Given the description of an element on the screen output the (x, y) to click on. 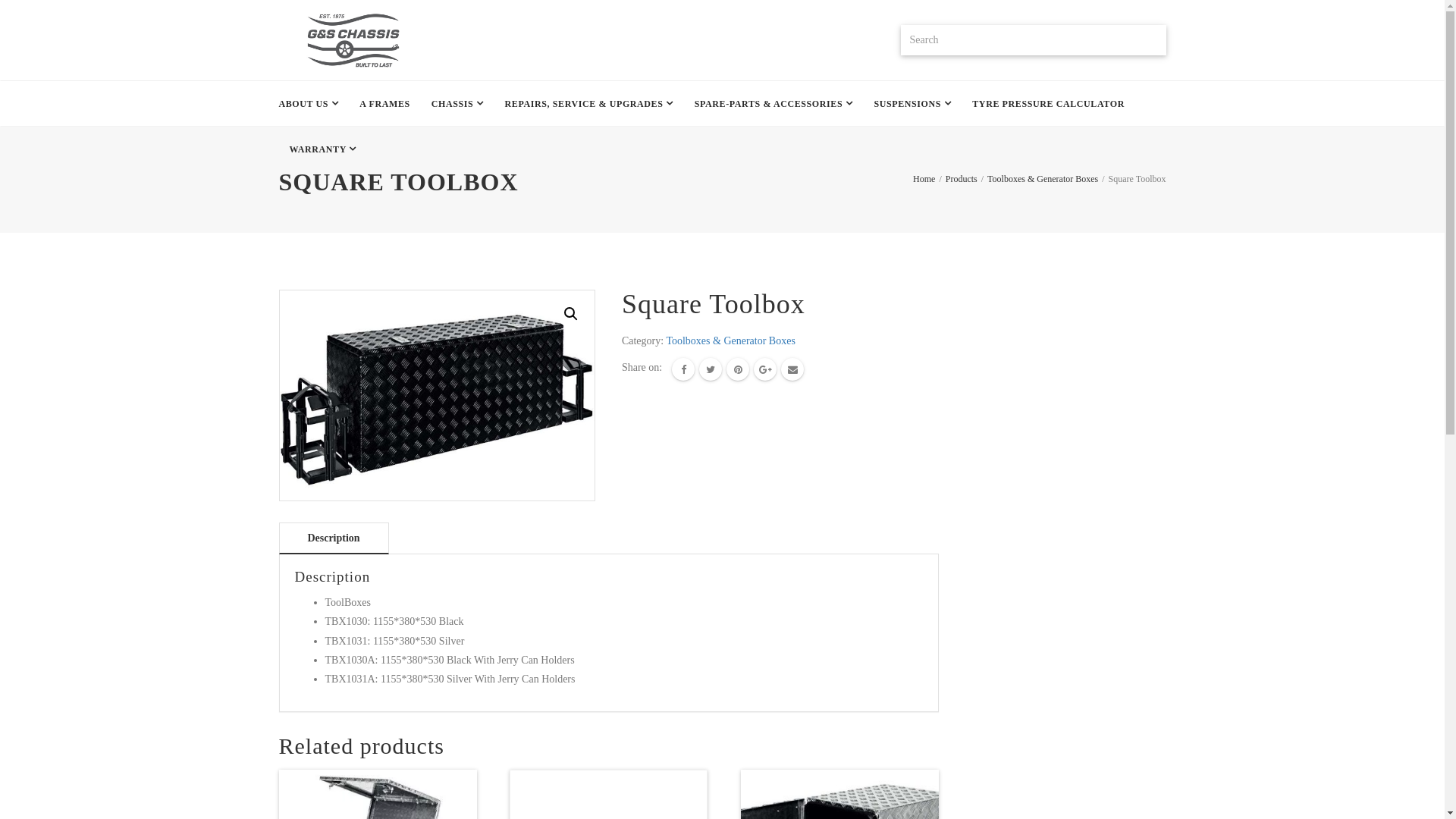
A FRAMES Element type: text (384, 103)
Description Element type: text (333, 537)
REPAIRS, SERVICE & UPGRADES Element type: text (589, 103)
TYRE PRESSURE CALCULATOR Element type: text (1048, 103)
GO Element type: text (1149, 40)
Products Element type: text (961, 178)
Toolboxes & Generator Boxes Element type: text (1042, 178)
CHASSIS Element type: text (457, 103)
WARRANTY Element type: text (323, 149)
facebook Element type: hover (682, 368)
SUSPENSIONS Element type: text (911, 103)
ABOUT US Element type: text (314, 103)
Welcome To G&S Chassis - Quality Chassis built to Last Element type: hover (351, 40)
Home Element type: text (924, 178)
t-b-1 Element type: hover (437, 395)
SPARE-PARTS & ACCESSORIES Element type: text (773, 103)
Toolboxes & Generator Boxes Element type: text (729, 340)
